Given the description of an element on the screen output the (x, y) to click on. 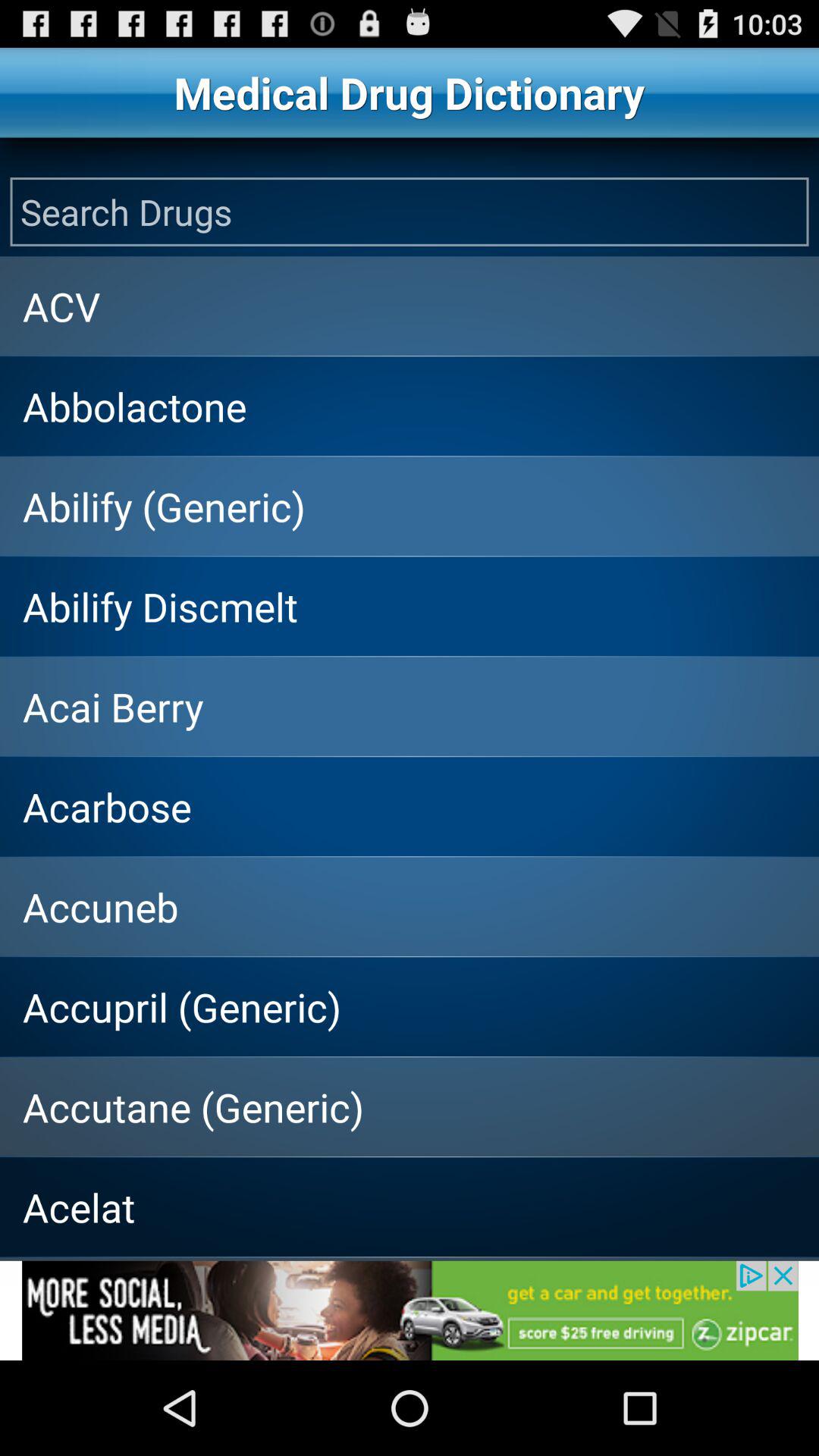
search field (409, 211)
